Given the description of an element on the screen output the (x, y) to click on. 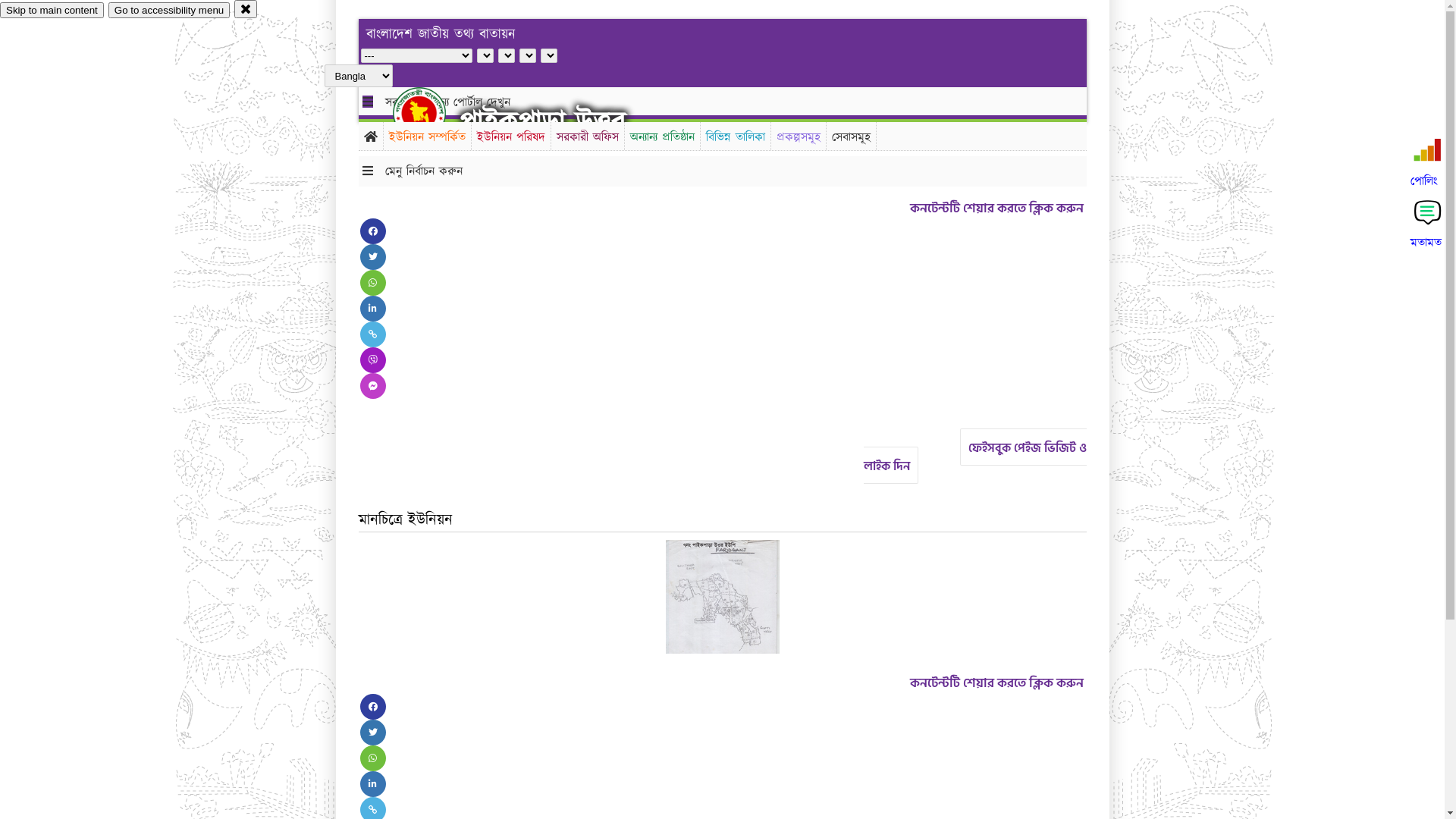
close Element type: hover (245, 9)
Skip to main content Element type: text (51, 10)

                
             Element type: hover (431, 112)
Go to accessibility menu Element type: text (168, 10)
